Given the description of an element on the screen output the (x, y) to click on. 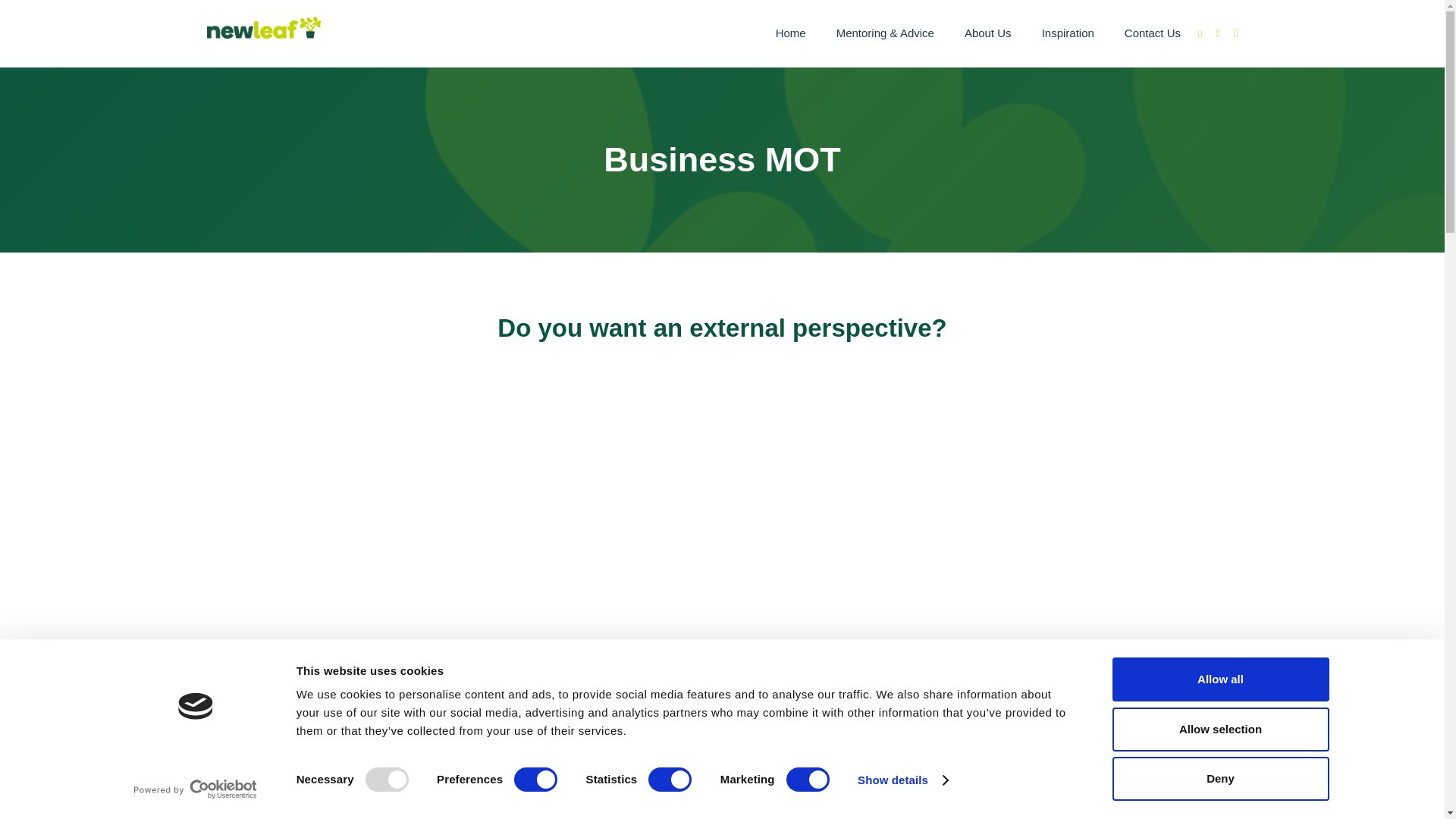
Show details (902, 780)
New Leaf (263, 27)
